Given the description of an element on the screen output the (x, y) to click on. 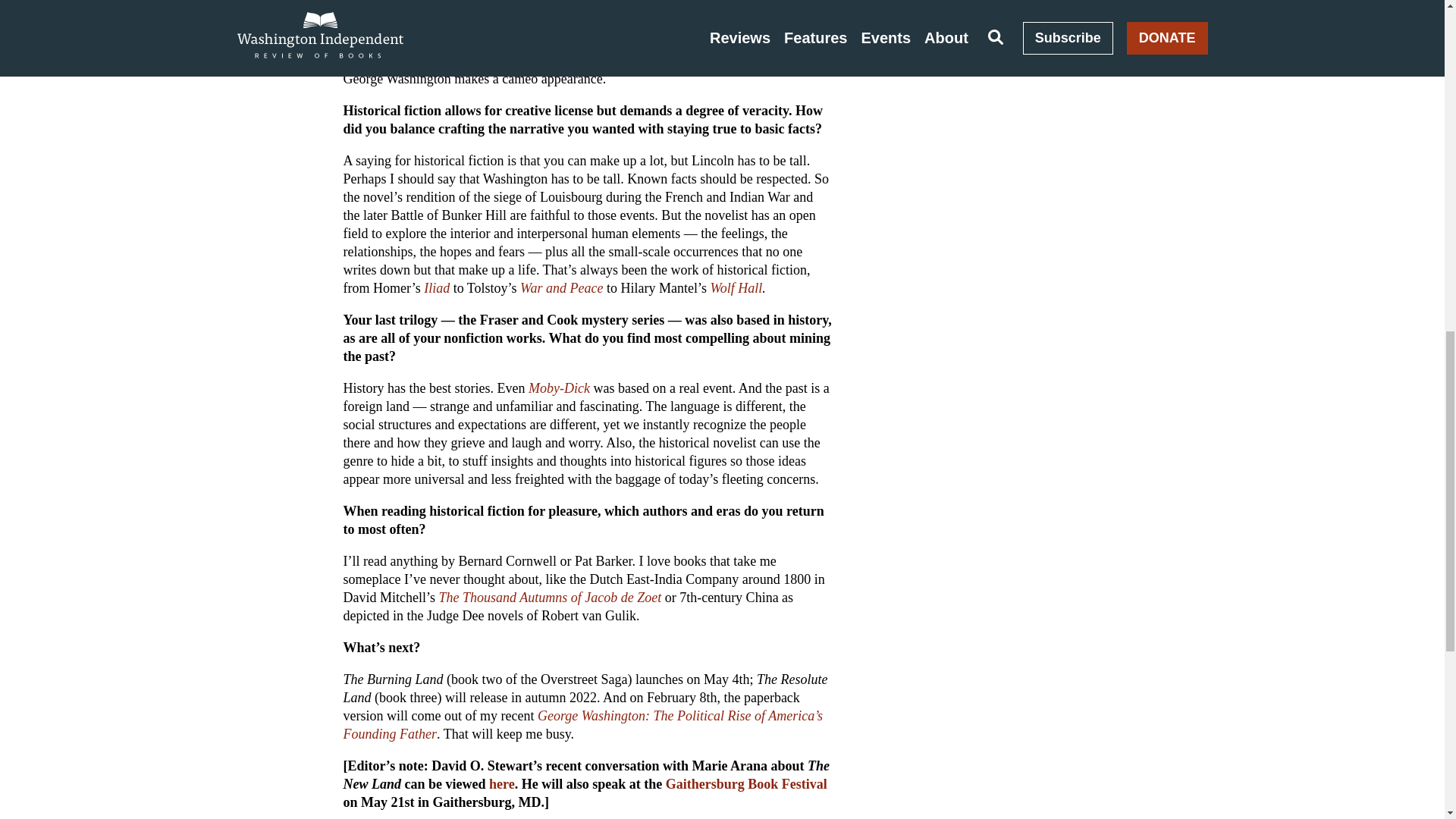
Gaithersburg Book Festival (746, 783)
Moby-Dick (558, 387)
Iliad (436, 287)
Wolf Hall (735, 287)
here (502, 783)
War and Peace (560, 287)
The Thousand Autumns of Jacob de Zoet (549, 597)
